Given the description of an element on the screen output the (x, y) to click on. 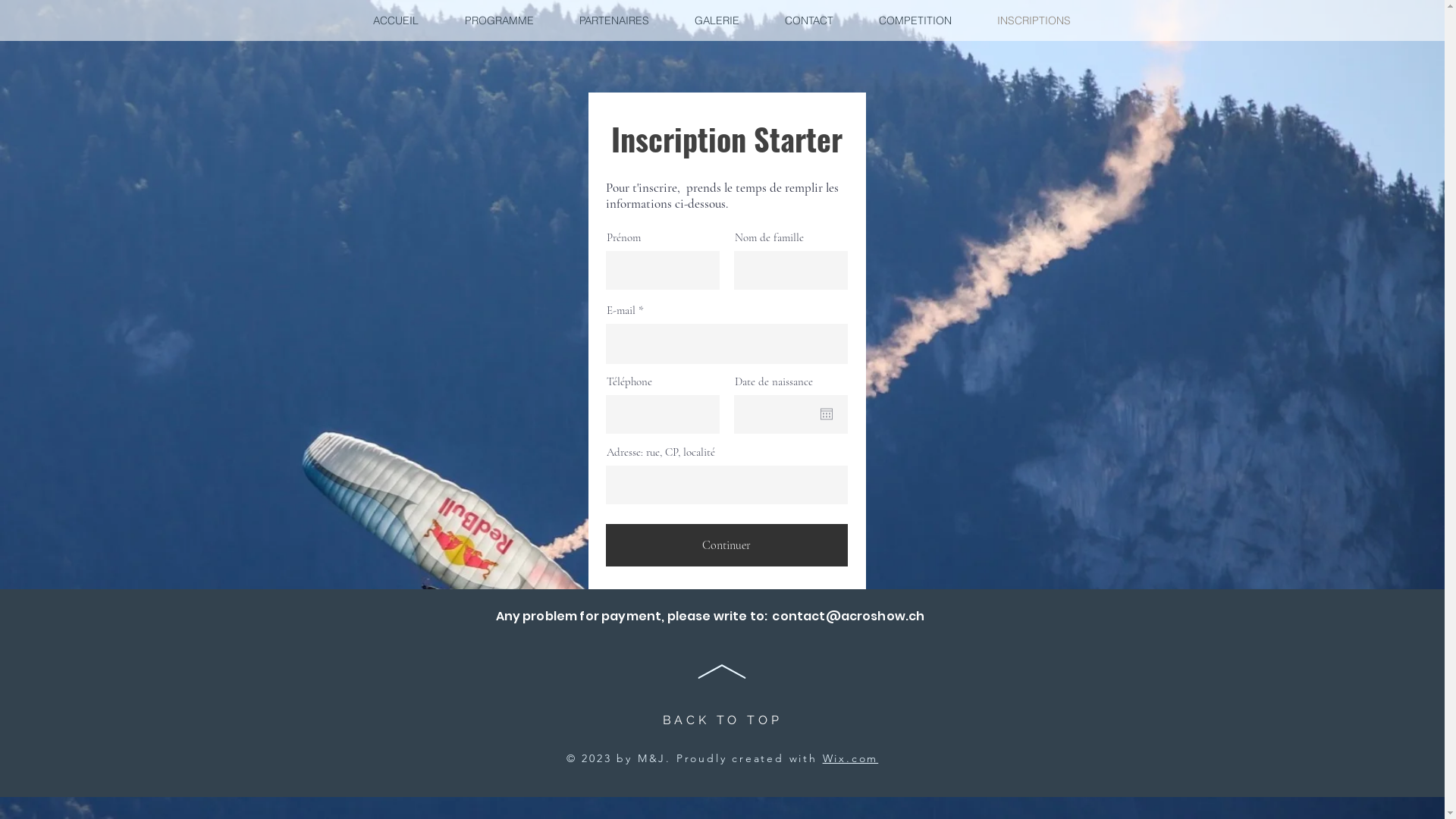
contact@acroshow.ch Element type: text (847, 615)
Wix.com Element type: text (850, 758)
INSCRIPTIONS Element type: text (1032, 20)
COMPETITION Element type: text (914, 20)
PROGRAMME Element type: text (498, 20)
PARTENAIRES Element type: text (613, 20)
Continuer Element type: text (726, 545)
GALERIE Element type: text (716, 20)
ACCUEIL Element type: text (396, 20)
BACK TO TOP Element type: text (722, 719)
CONTACT Element type: text (808, 20)
